Given the description of an element on the screen output the (x, y) to click on. 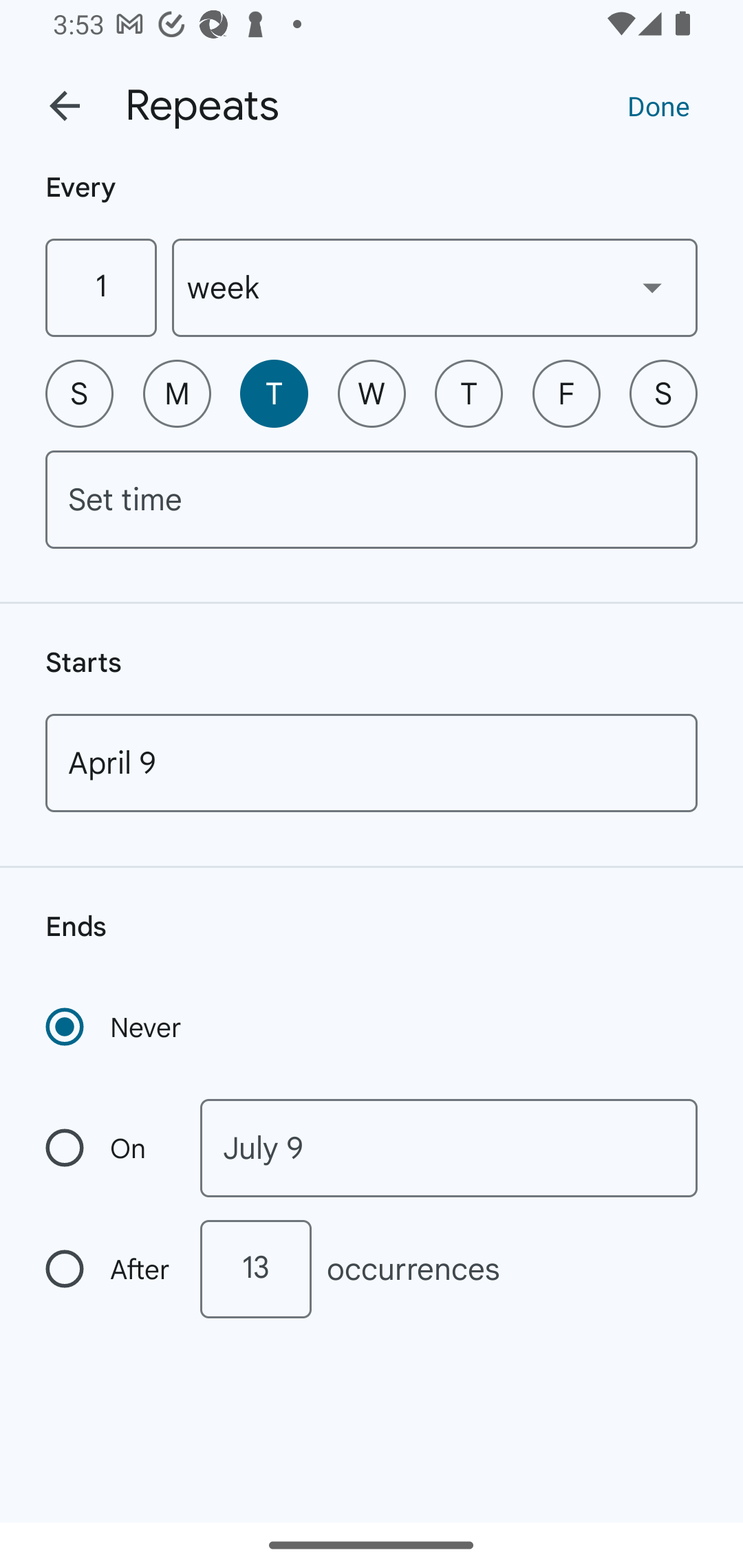
Back (64, 105)
Done (658, 105)
1 (100, 287)
week (434, 287)
Show dropdown menu (652, 286)
S Sunday (79, 393)
M Monday (177, 393)
T Tuesday, selected (273, 393)
W Wednesday (371, 393)
T Thursday (468, 393)
F Friday (566, 393)
S Saturday (663, 393)
Set time (371, 499)
April 9 (371, 762)
Never Recurrence never ends (115, 1026)
July 9 (448, 1148)
On Recurrence ends on a specific date (109, 1148)
13 (255, 1268)
